Given the description of an element on the screen output the (x, y) to click on. 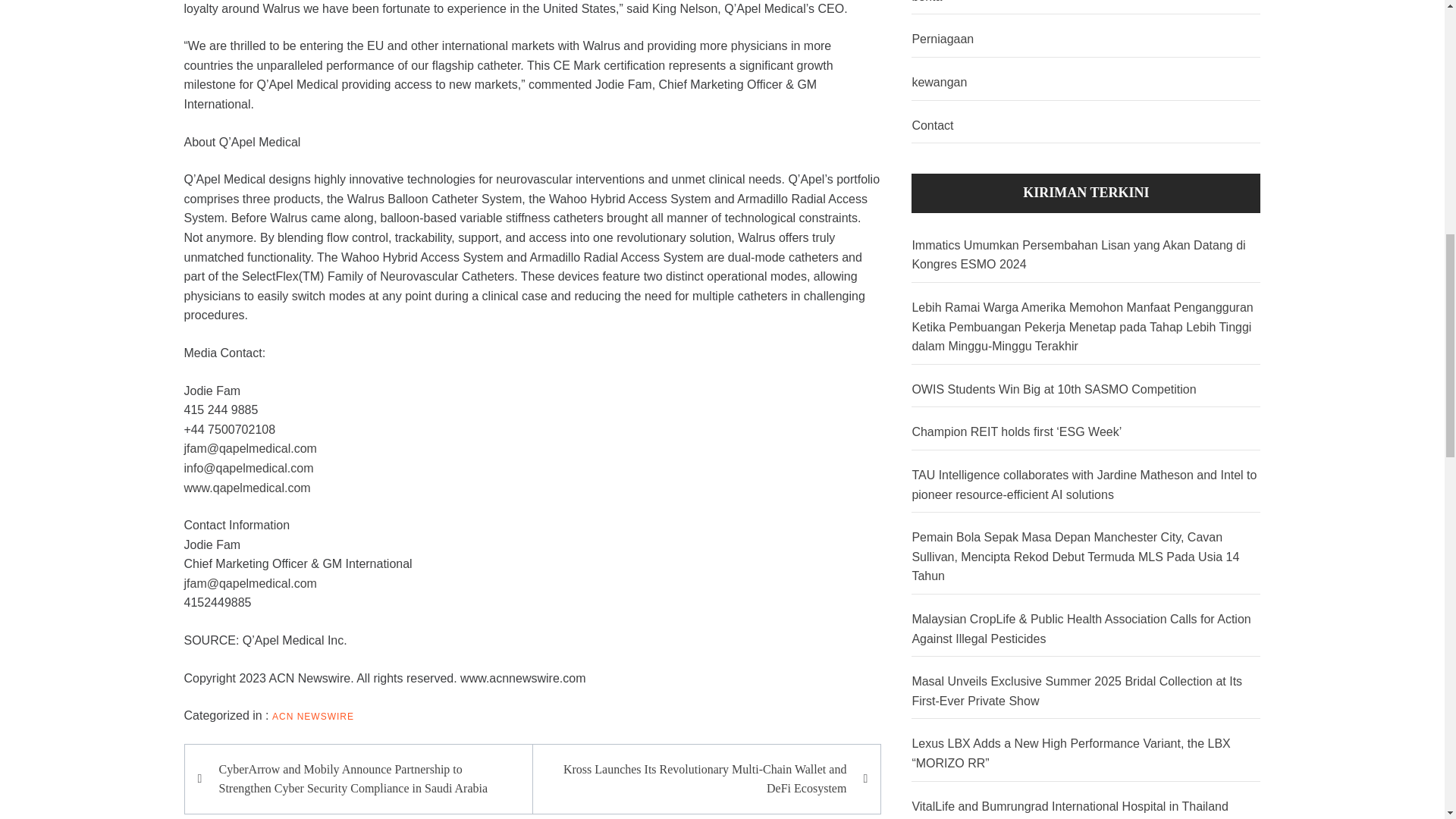
Perniagaan (1085, 39)
www.qapelmedical.com (246, 487)
kewangan (1085, 82)
ACN NEWSWIRE (312, 716)
Contact (1085, 126)
berita (1085, 7)
OWIS Students Win Big at 10th SASMO Competition (1085, 389)
